Given the description of an element on the screen output the (x, y) to click on. 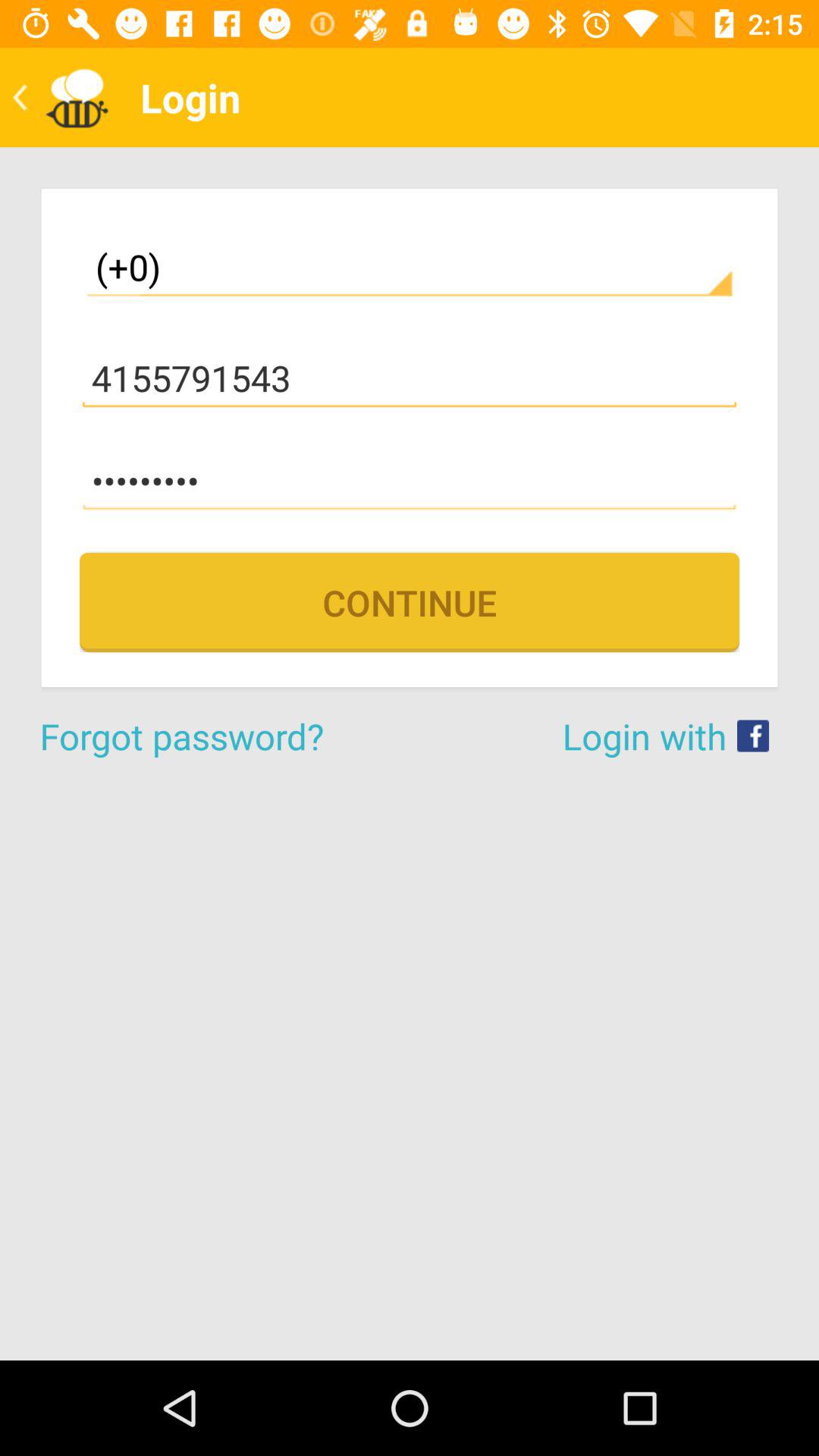
launch the icon below continue item (224, 736)
